Given the description of an element on the screen output the (x, y) to click on. 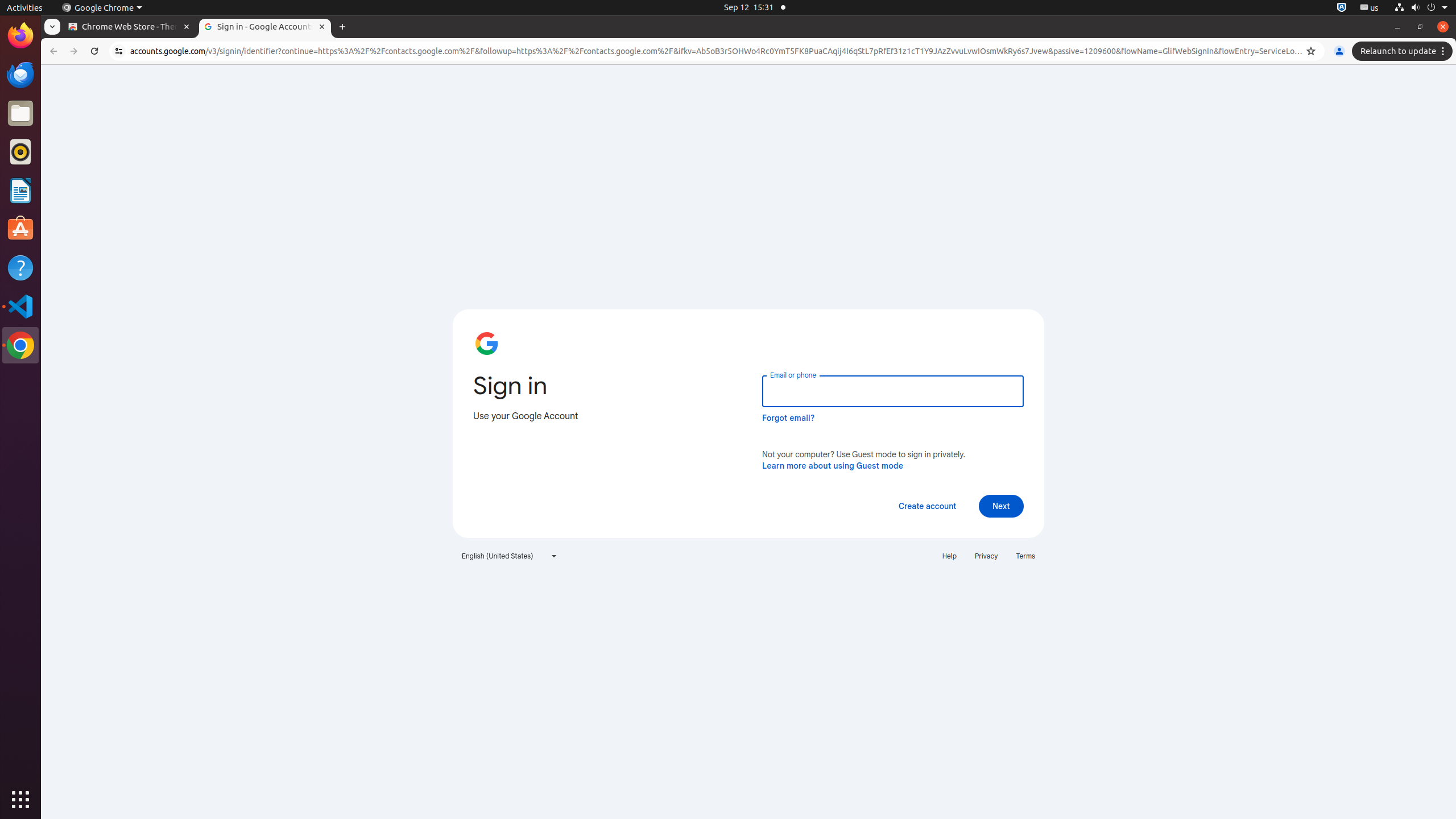
Create account Element type: push-button (926, 505)
You Element type: push-button (1339, 50)
New Tab Element type: push-button (342, 26)
Firefox Web Browser Element type: push-button (20, 35)
Google Chrome Element type: push-button (20, 344)
